Given the description of an element on the screen output the (x, y) to click on. 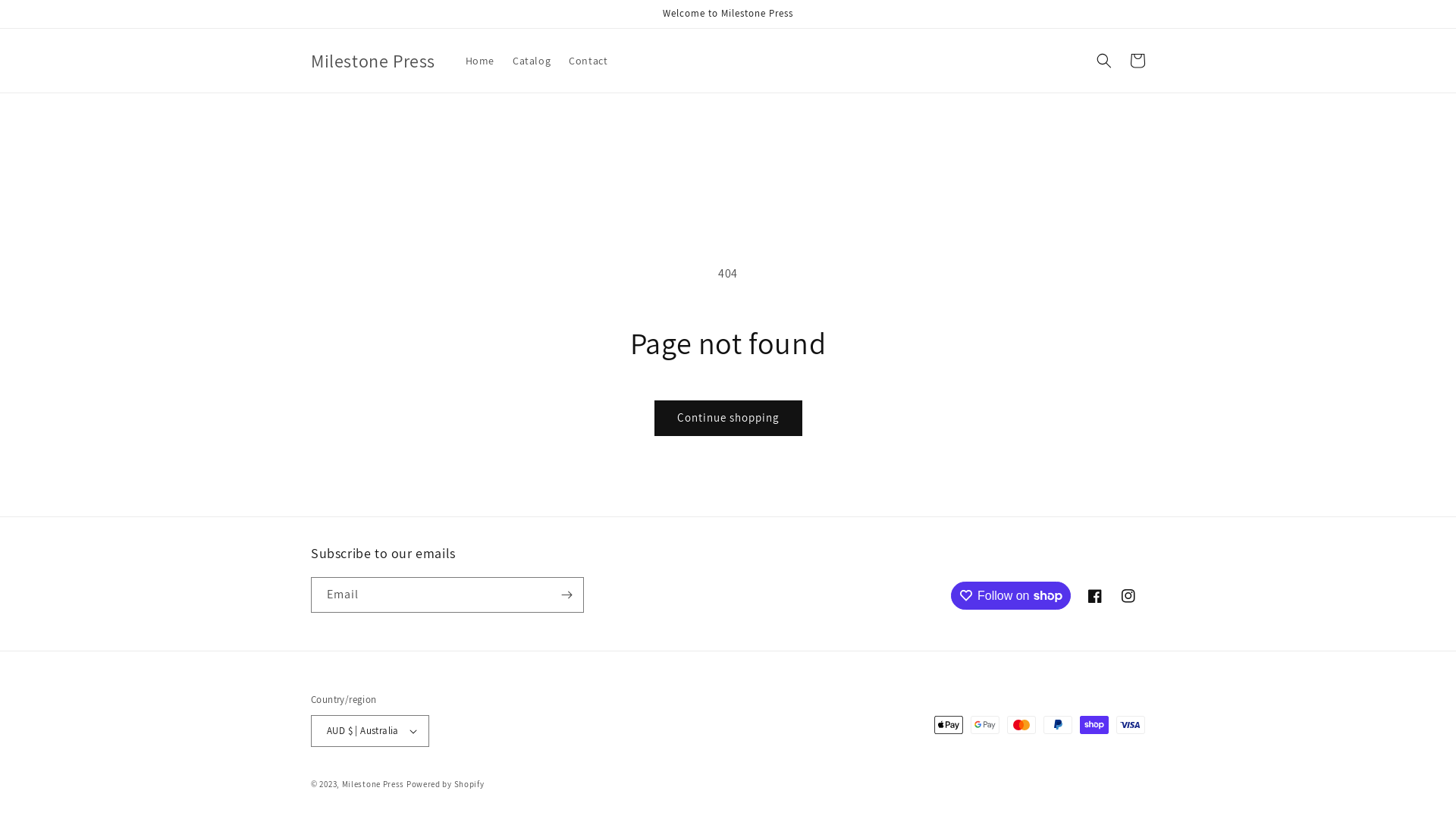
Milestone Press Element type: text (372, 60)
Home Element type: text (479, 60)
Powered by Shopify Element type: text (445, 783)
Cart Element type: text (1137, 60)
Milestone Press Element type: text (373, 783)
Instagram Element type: text (1128, 595)
AUD $ | Australia Element type: text (369, 730)
Continue shopping Element type: text (727, 418)
Contact Element type: text (587, 60)
Catalog Element type: text (531, 60)
Facebook Element type: text (1094, 595)
